Given the description of an element on the screen output the (x, y) to click on. 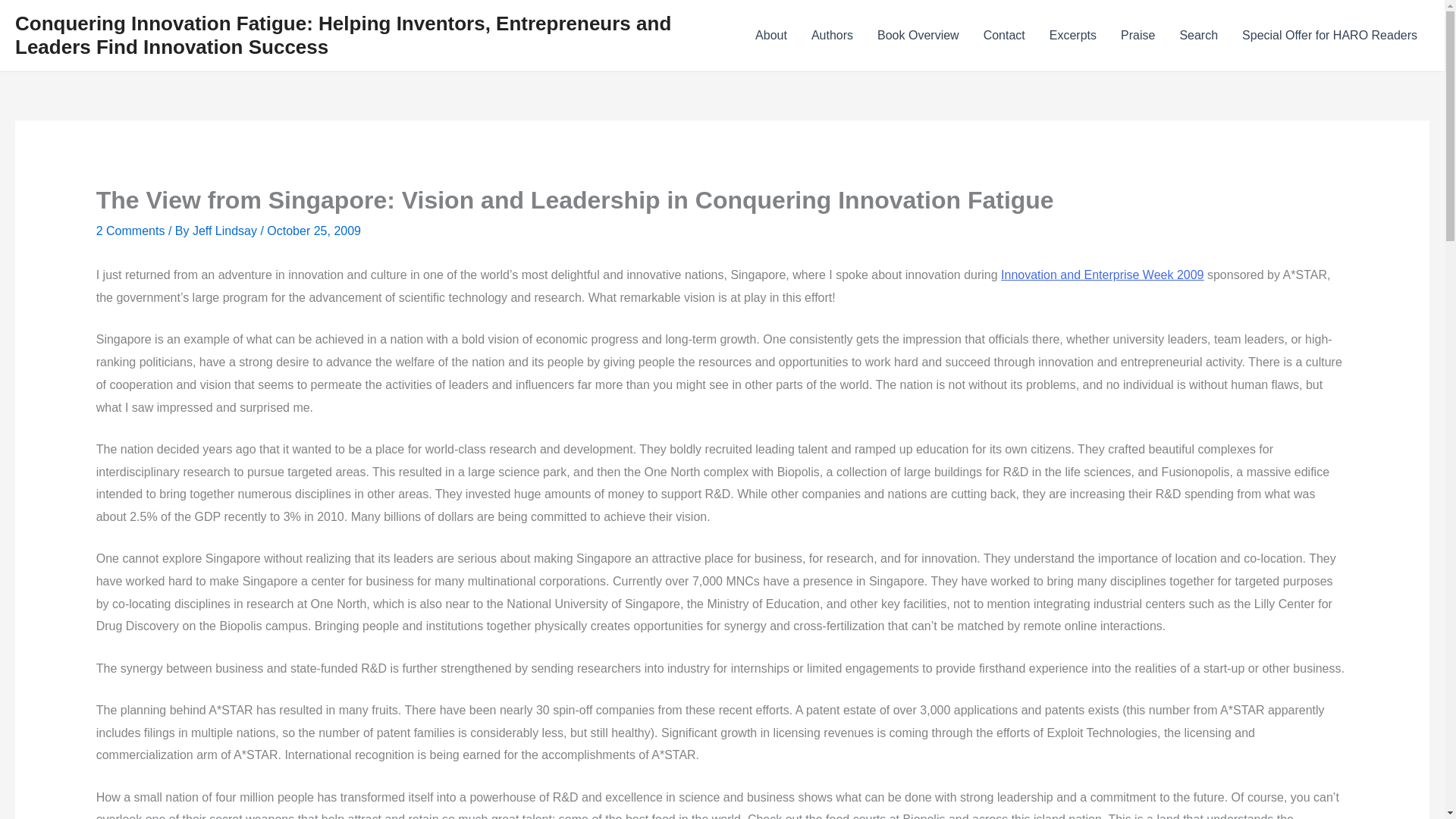
Authors (831, 35)
Praise (1137, 35)
Excerpts (1072, 35)
Book Overview (917, 35)
Jeff Lindsay (226, 230)
About (770, 35)
Innovation and Enterprise Week 2009 (1102, 274)
View all posts by Jeff Lindsay (226, 230)
Search (1198, 35)
